Given the description of an element on the screen output the (x, y) to click on. 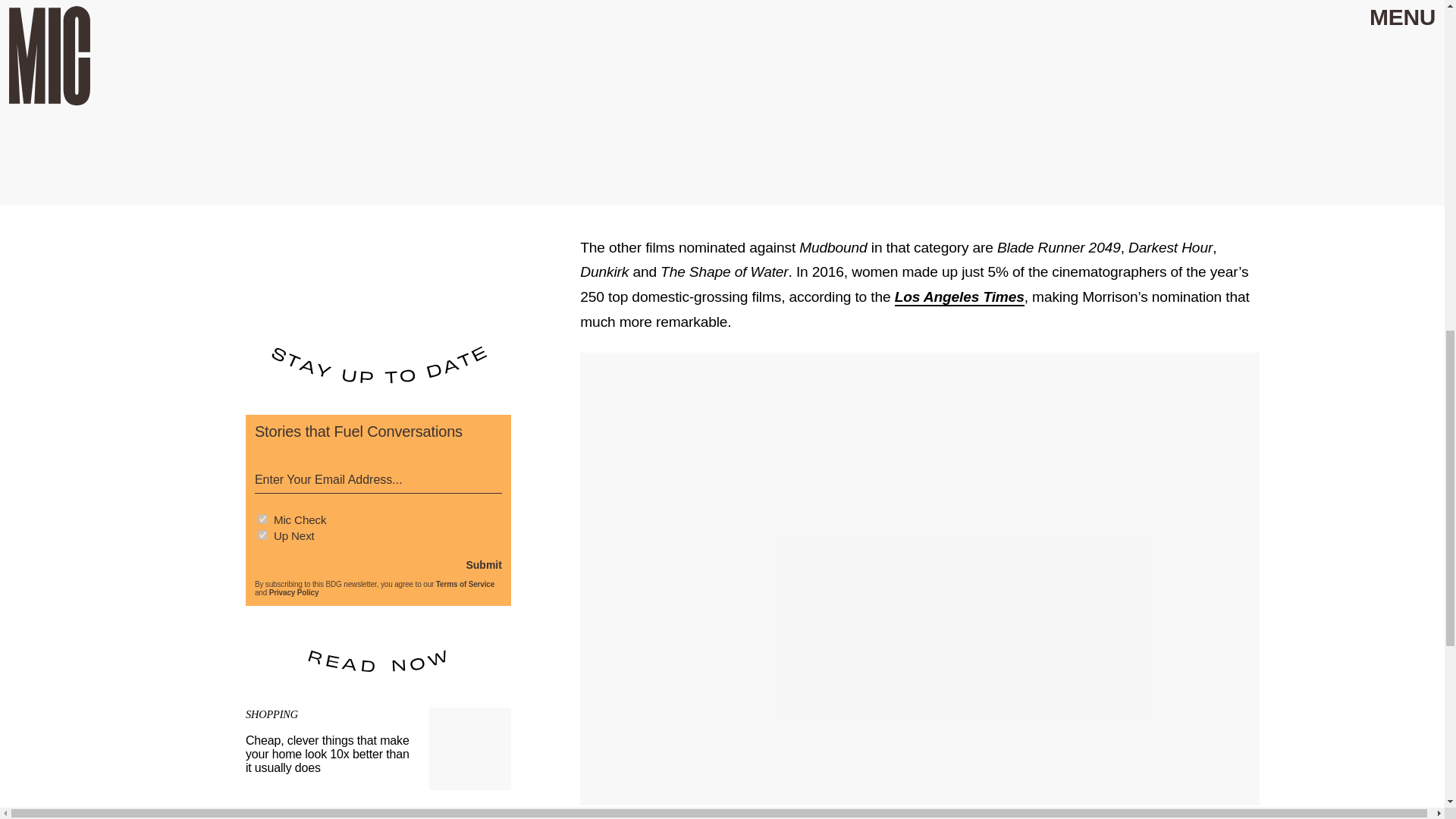
Submit (482, 563)
Privacy Policy (293, 592)
Los Angeles Times (960, 297)
Terms of Service (465, 583)
